Given the description of an element on the screen output the (x, y) to click on. 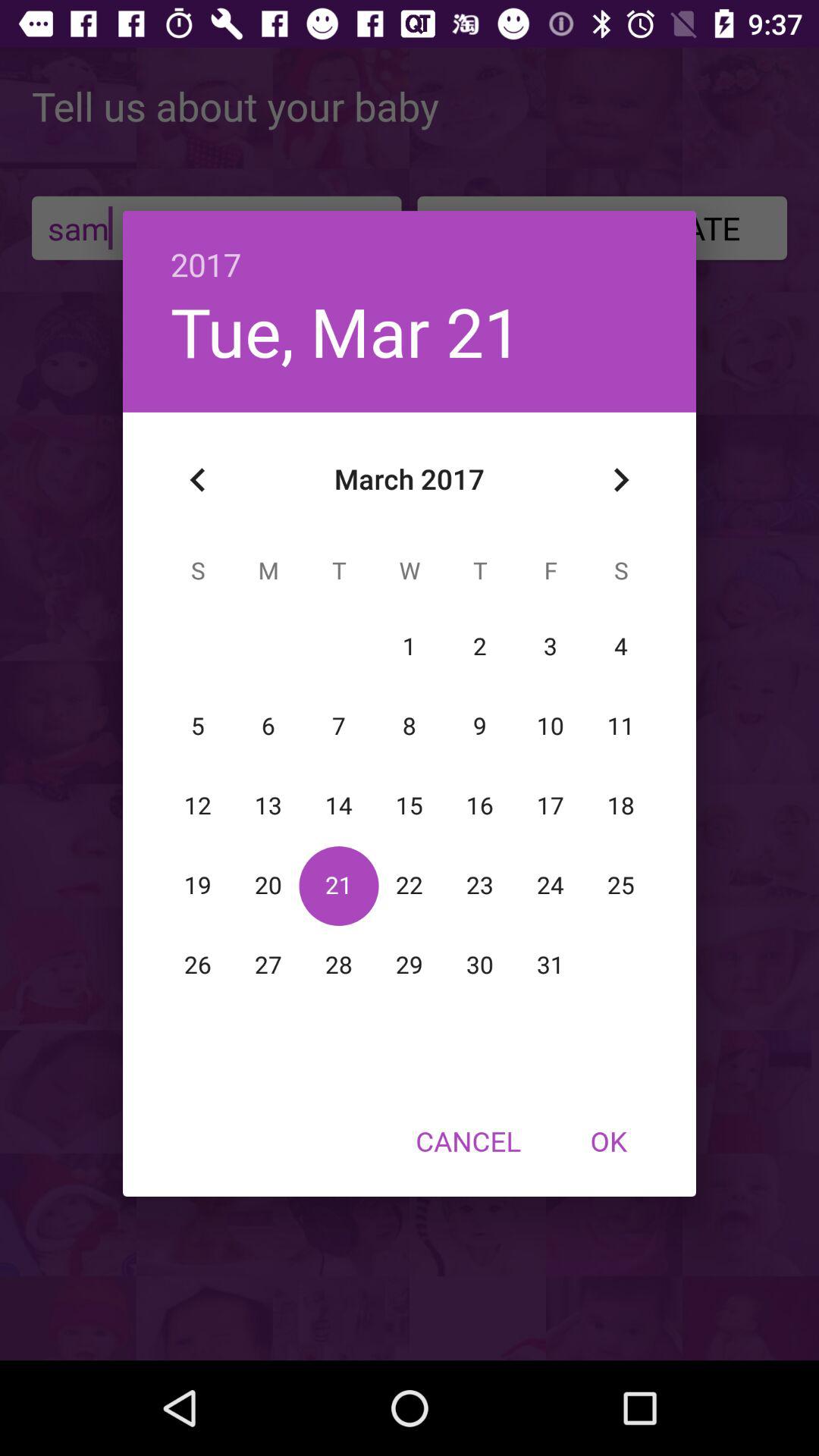
scroll until the cancel (467, 1140)
